Given the description of an element on the screen output the (x, y) to click on. 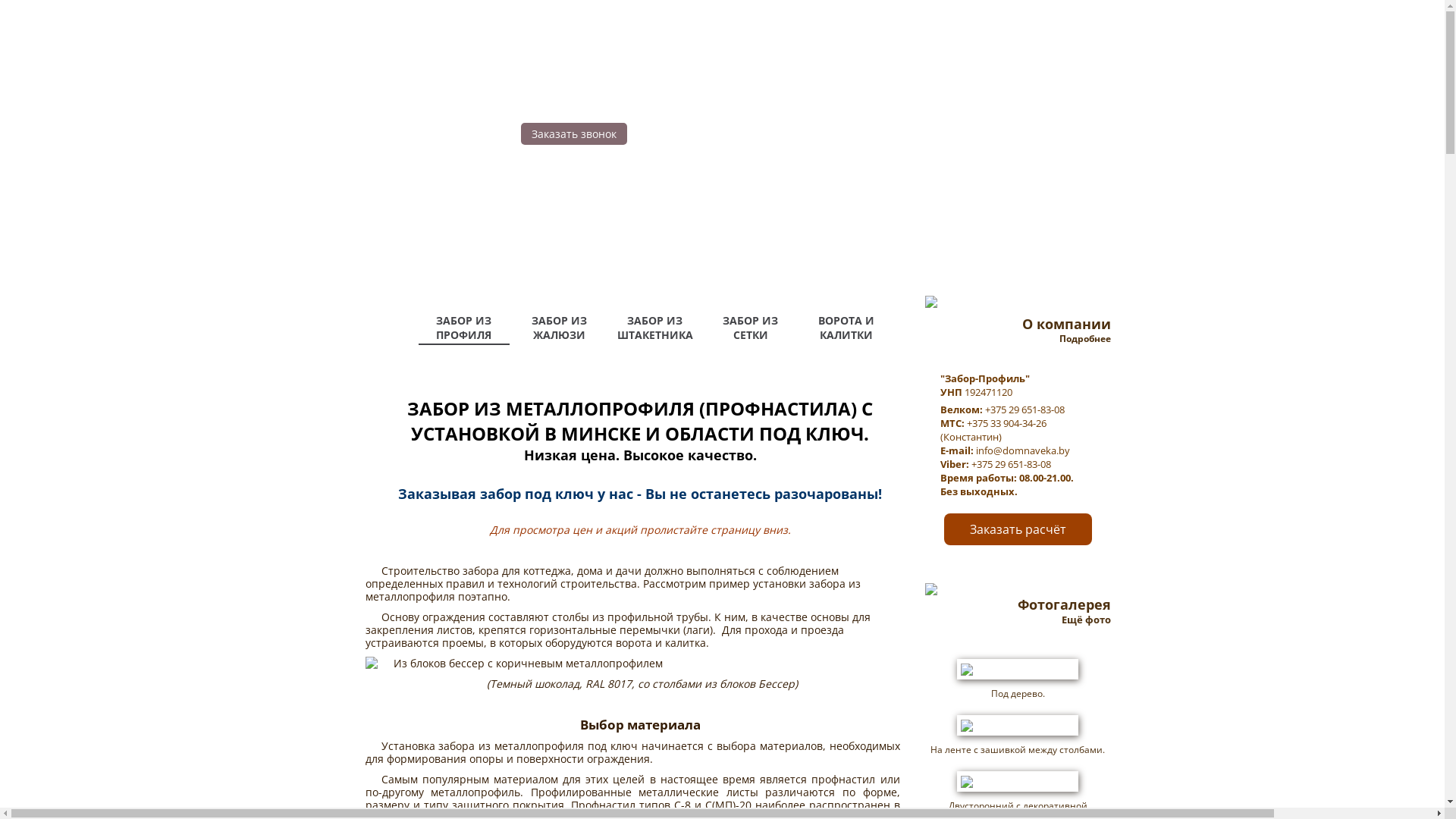
+375 29 651-83-08 Element type: text (1010, 463)
info@domnaveka.by Element type: text (1022, 450)
+375 29 651-83-08 Element type: text (1023, 409)
+375 33 904-34-26 Element type: text (1005, 422)
